Given the description of an element on the screen output the (x, y) to click on. 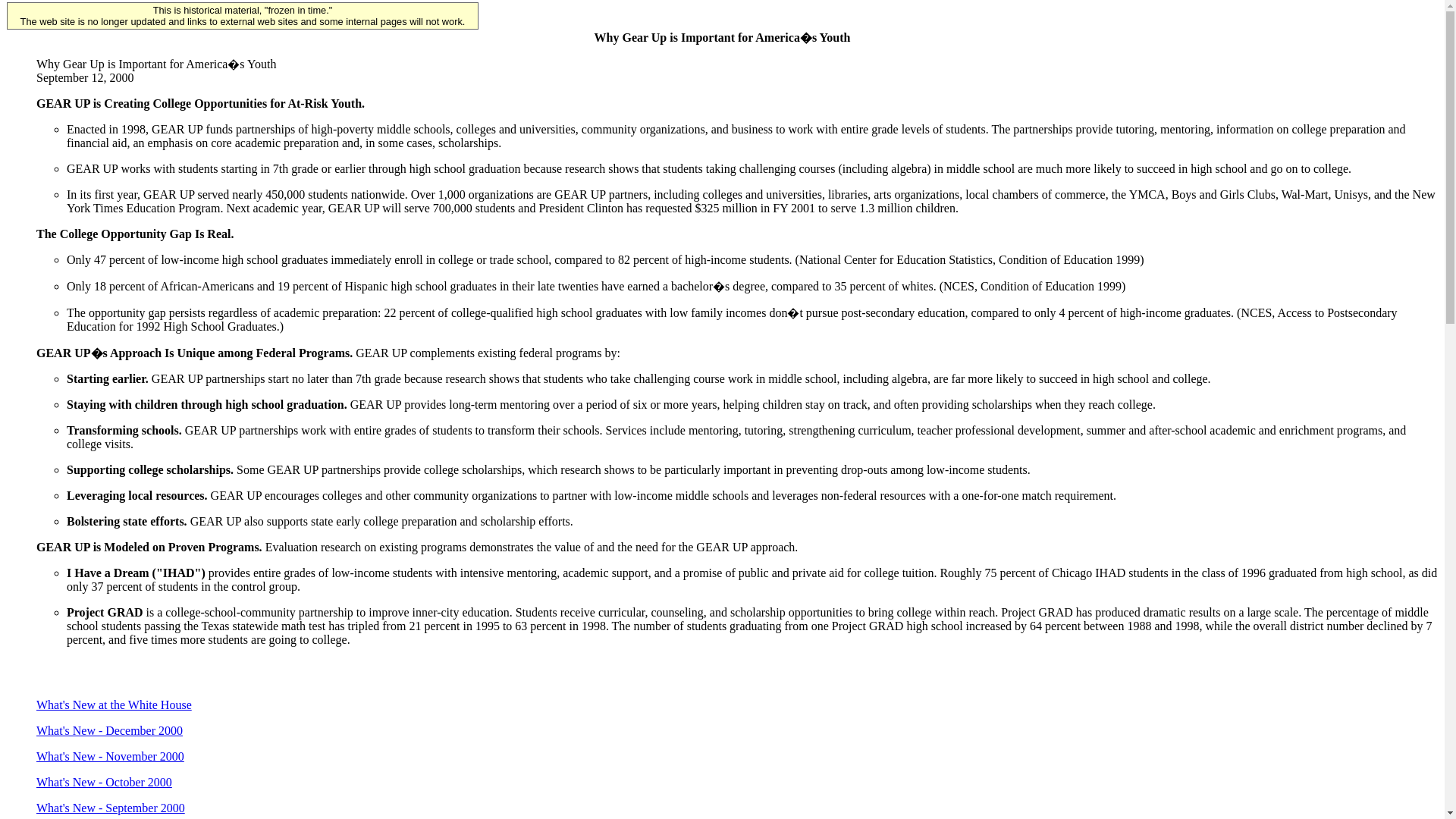
What's New - October 2000 (103, 781)
What's New - September 2000 (110, 807)
What's New at the White House (114, 704)
What's New - November 2000 (110, 756)
What's New - December 2000 (109, 730)
